Given the description of an element on the screen output the (x, y) to click on. 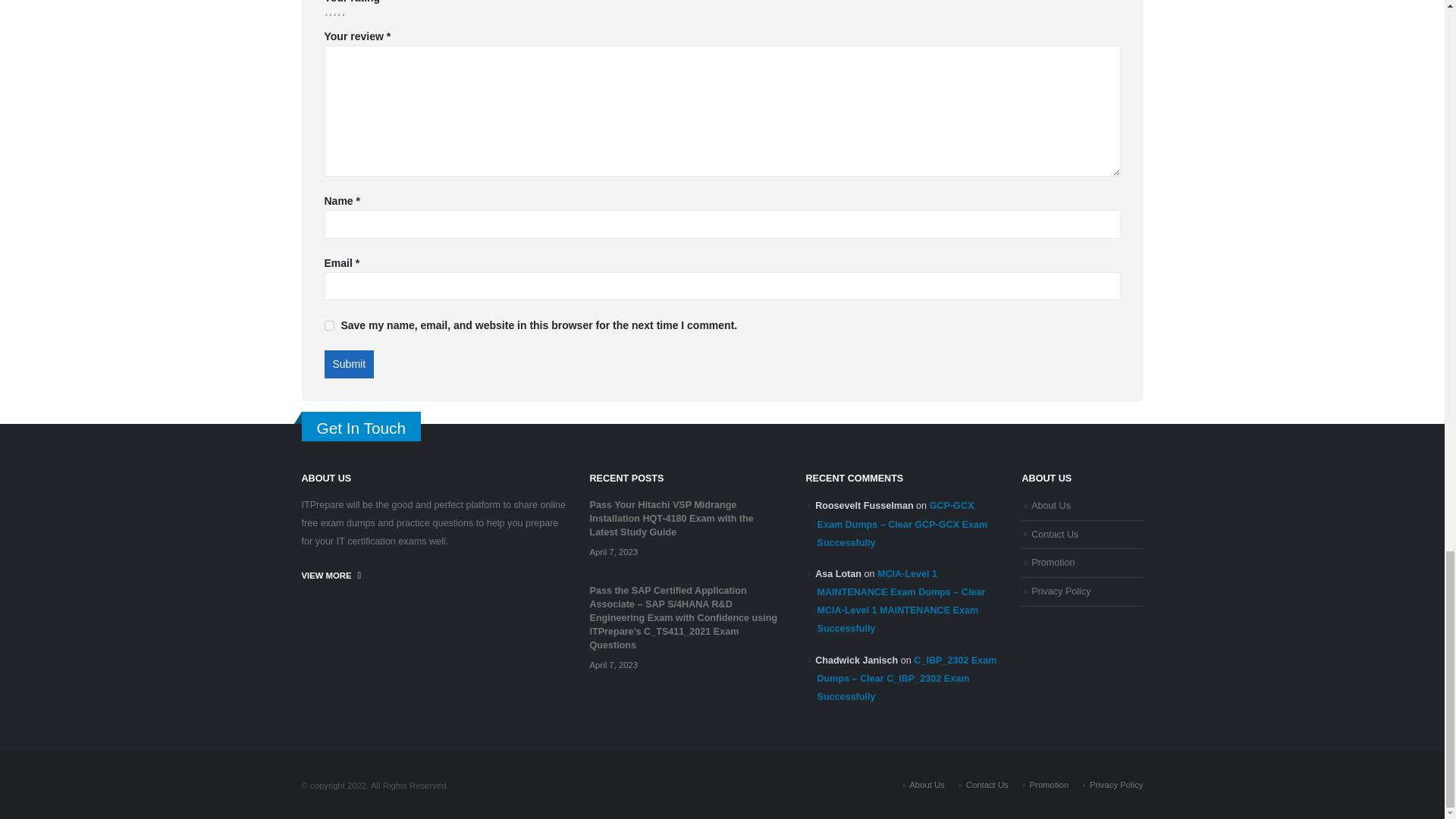
VIEW MORE (331, 575)
yes (329, 325)
Promotion (1052, 562)
Submit (349, 364)
About Us (926, 784)
Submit (349, 364)
Contact Us (1054, 534)
Privacy Policy (1060, 591)
About Us (1050, 505)
